Given the description of an element on the screen output the (x, y) to click on. 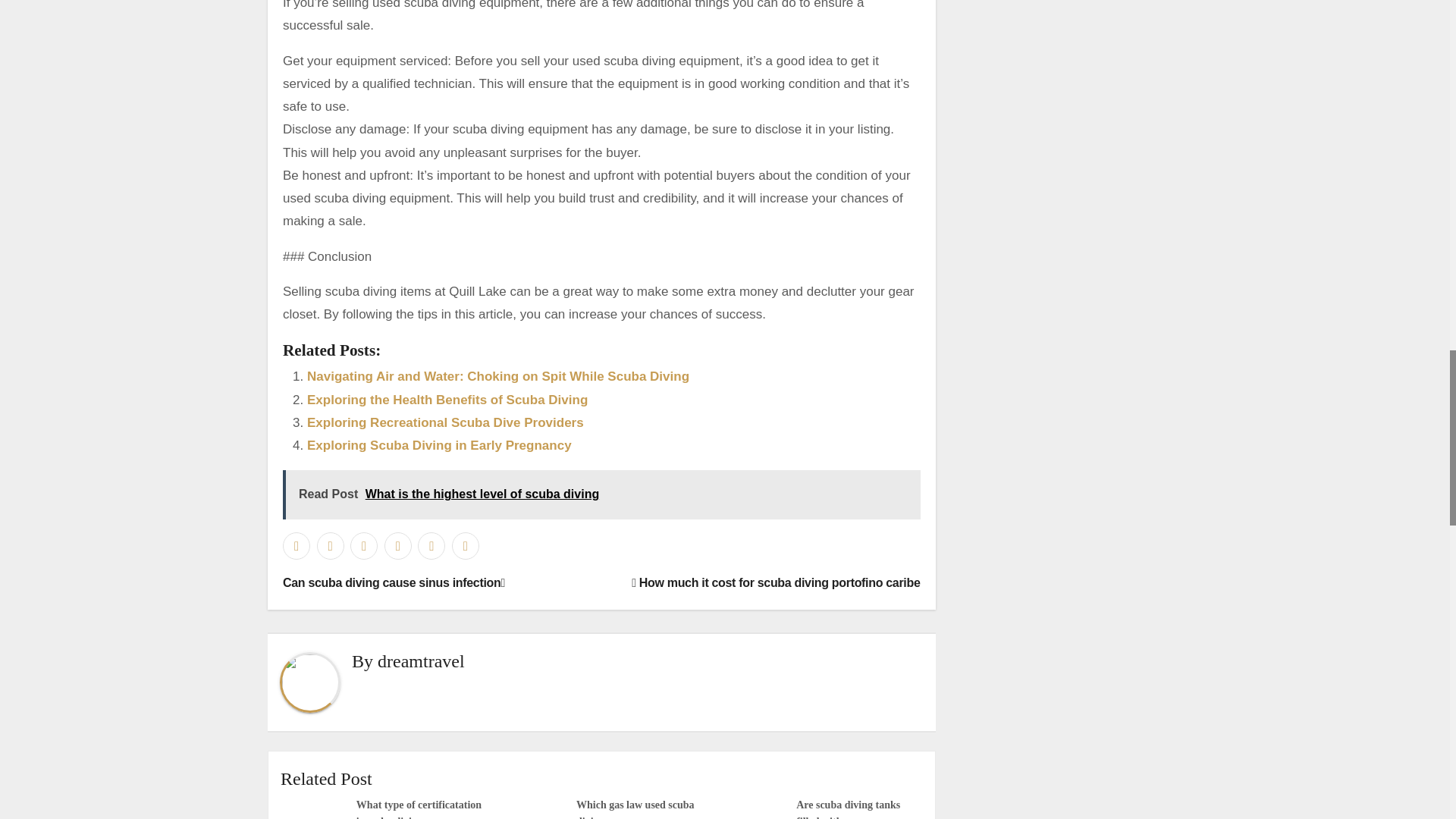
Exploring Recreational Scuba Dive Providers (445, 422)
Can scuba diving cause sinus infection (393, 582)
Navigating Air and Water: Choking on Spit While Scuba Diving (497, 376)
How much it cost for scuba diving portofino caribe (775, 582)
Exploring Scuba Diving in Early Pregnancy (439, 445)
Exploring the Health Benefits of Scuba Diving (447, 400)
Read Post  What is the highest level of scuba diving (601, 494)
